Given the description of an element on the screen output the (x, y) to click on. 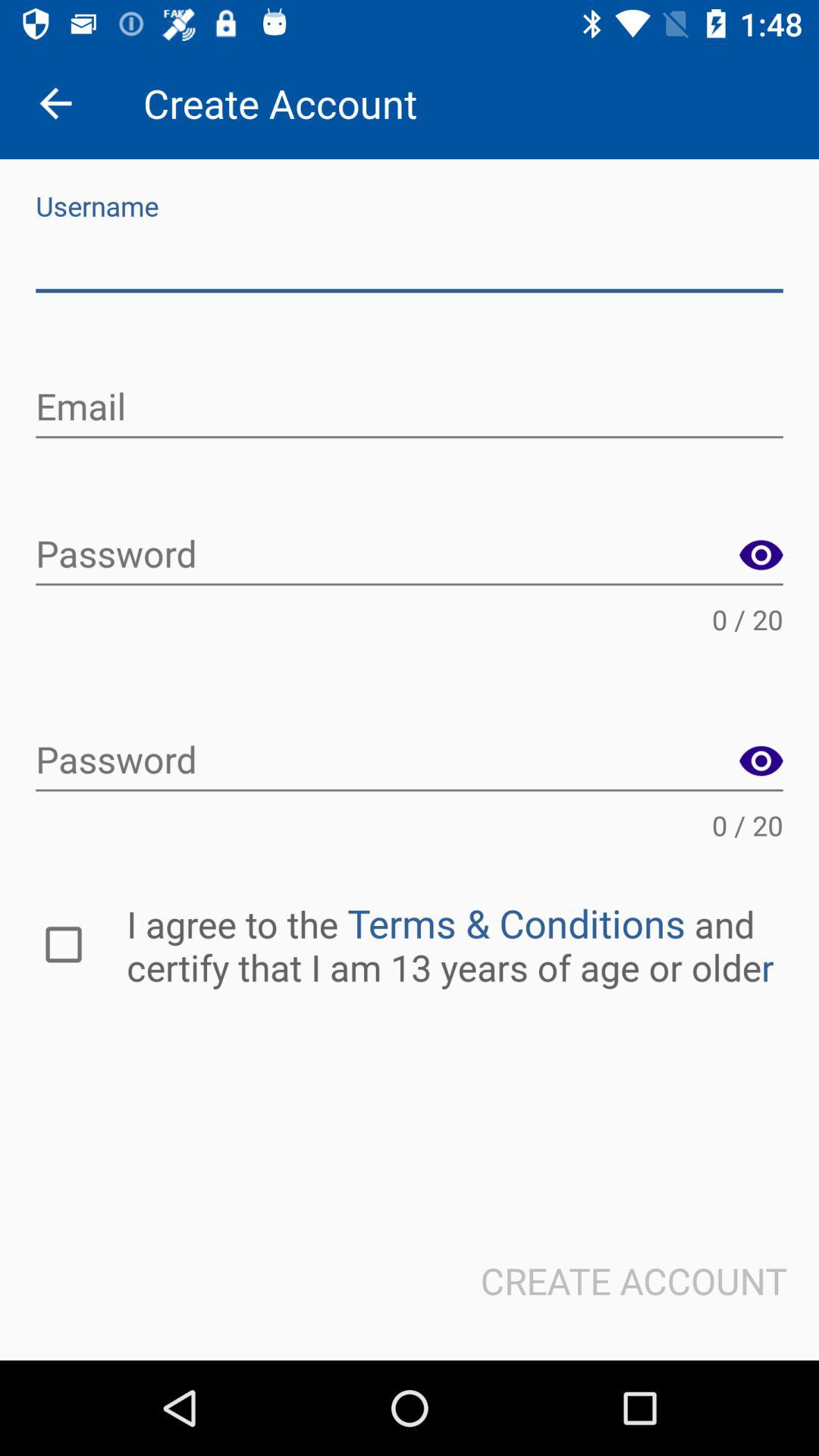
view password (761, 761)
